Given the description of an element on the screen output the (x, y) to click on. 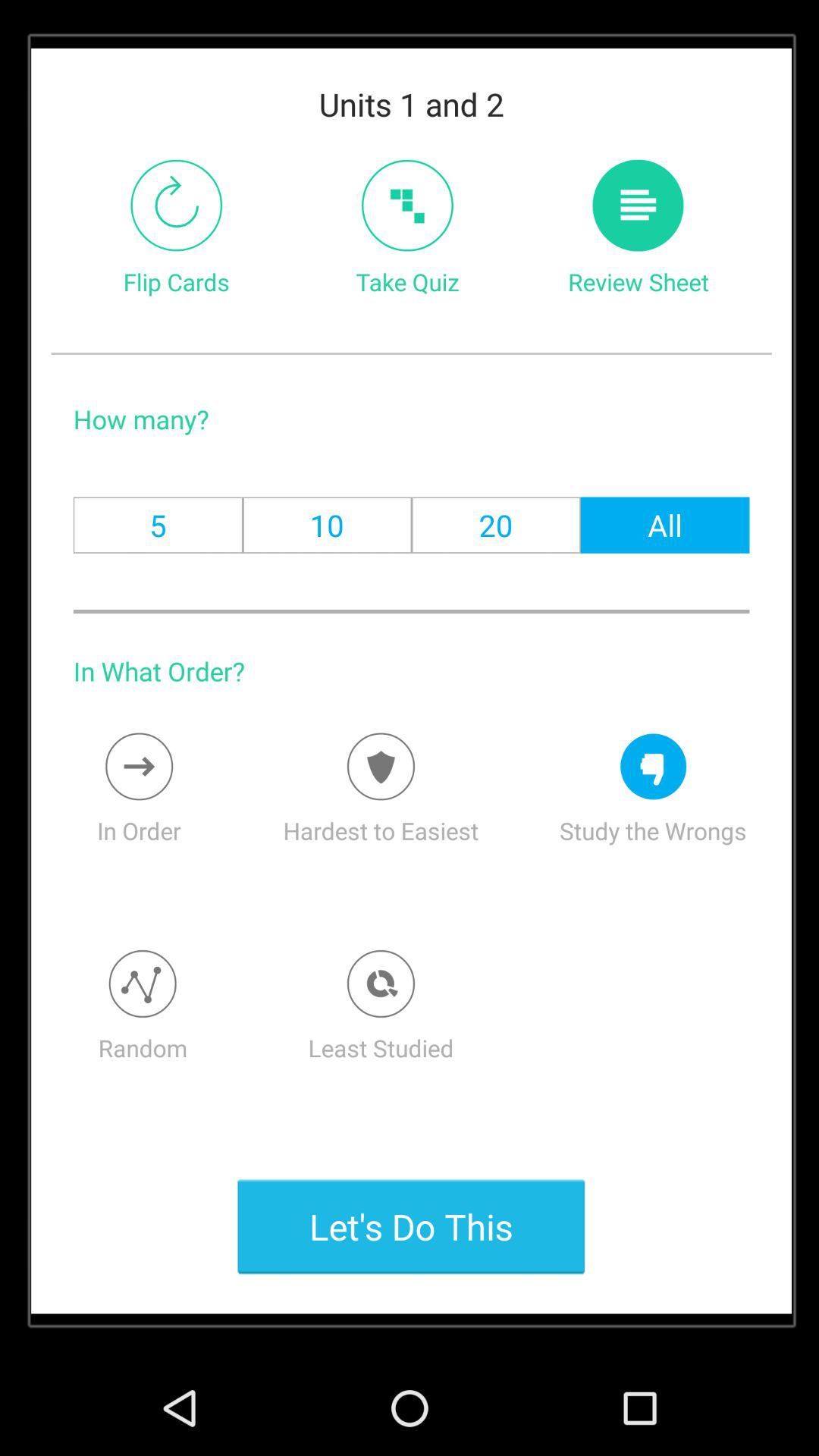
click the thumbs down (653, 766)
